Given the description of an element on the screen output the (x, y) to click on. 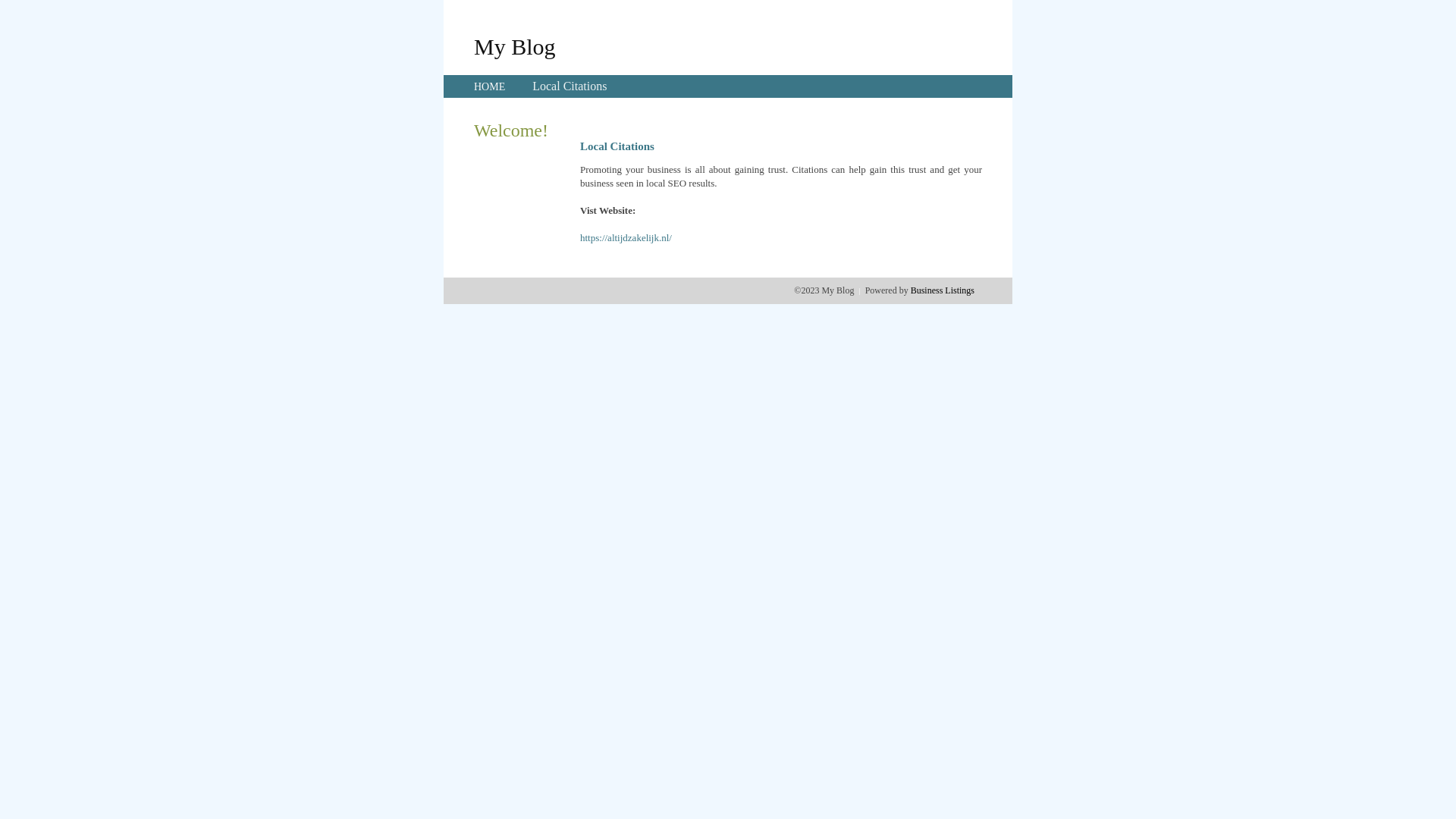
Business Listings Element type: text (942, 290)
HOME Element type: text (489, 86)
Local Citations Element type: text (569, 85)
My Blog Element type: text (514, 46)
https://altijdzakelijk.nl/ Element type: text (625, 237)
